Given the description of an element on the screen output the (x, y) to click on. 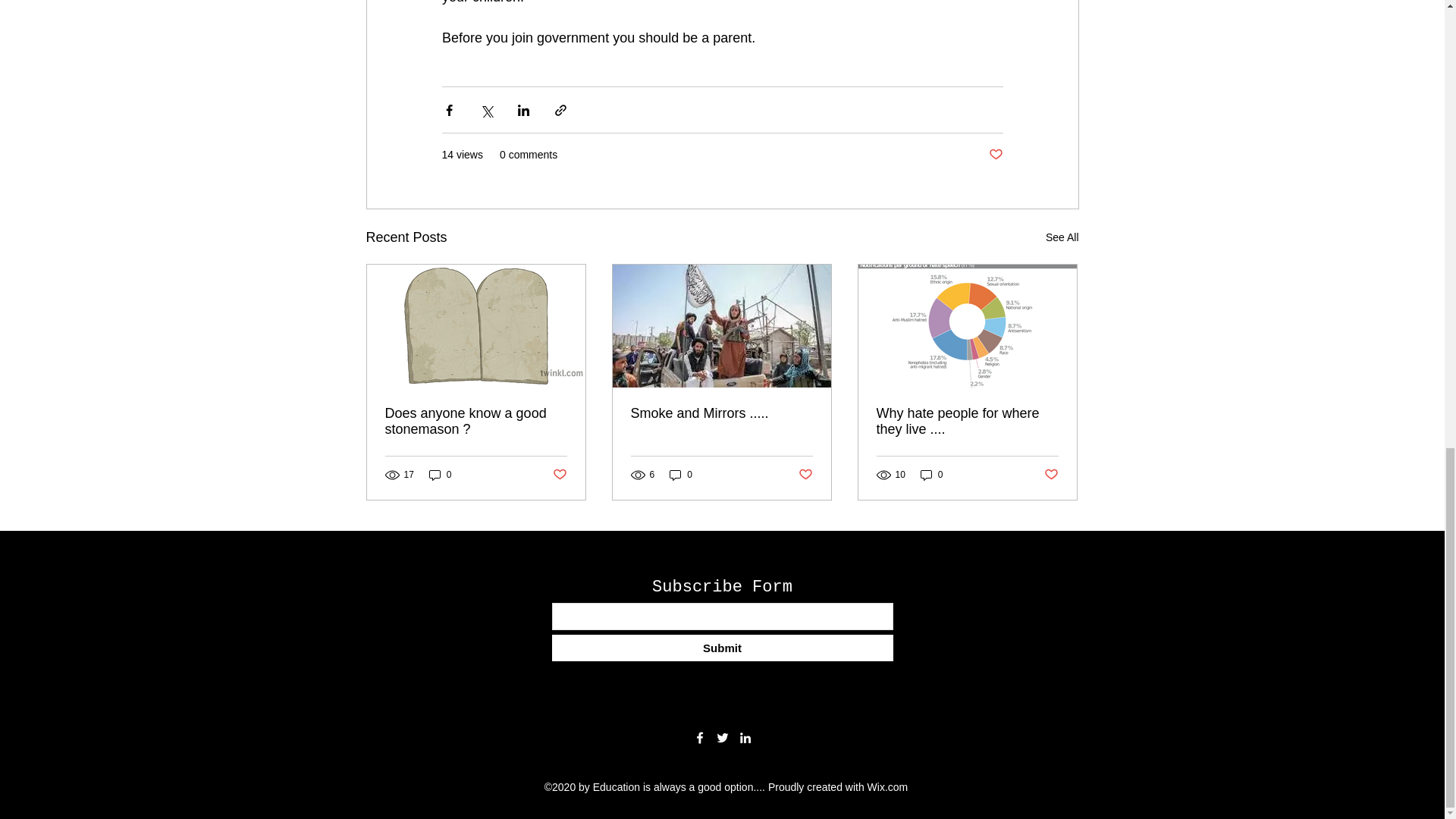
0 (931, 474)
Post not marked as liked (558, 474)
Does anyone know a good stonemason ? (476, 421)
Post not marked as liked (995, 154)
0 (440, 474)
See All (1061, 237)
Post not marked as liked (1050, 474)
Smoke and Mirrors ..... (721, 413)
0 (681, 474)
Submit (722, 647)
Post not marked as liked (804, 474)
Why hate people for where they live .... (967, 421)
